Given the description of an element on the screen output the (x, y) to click on. 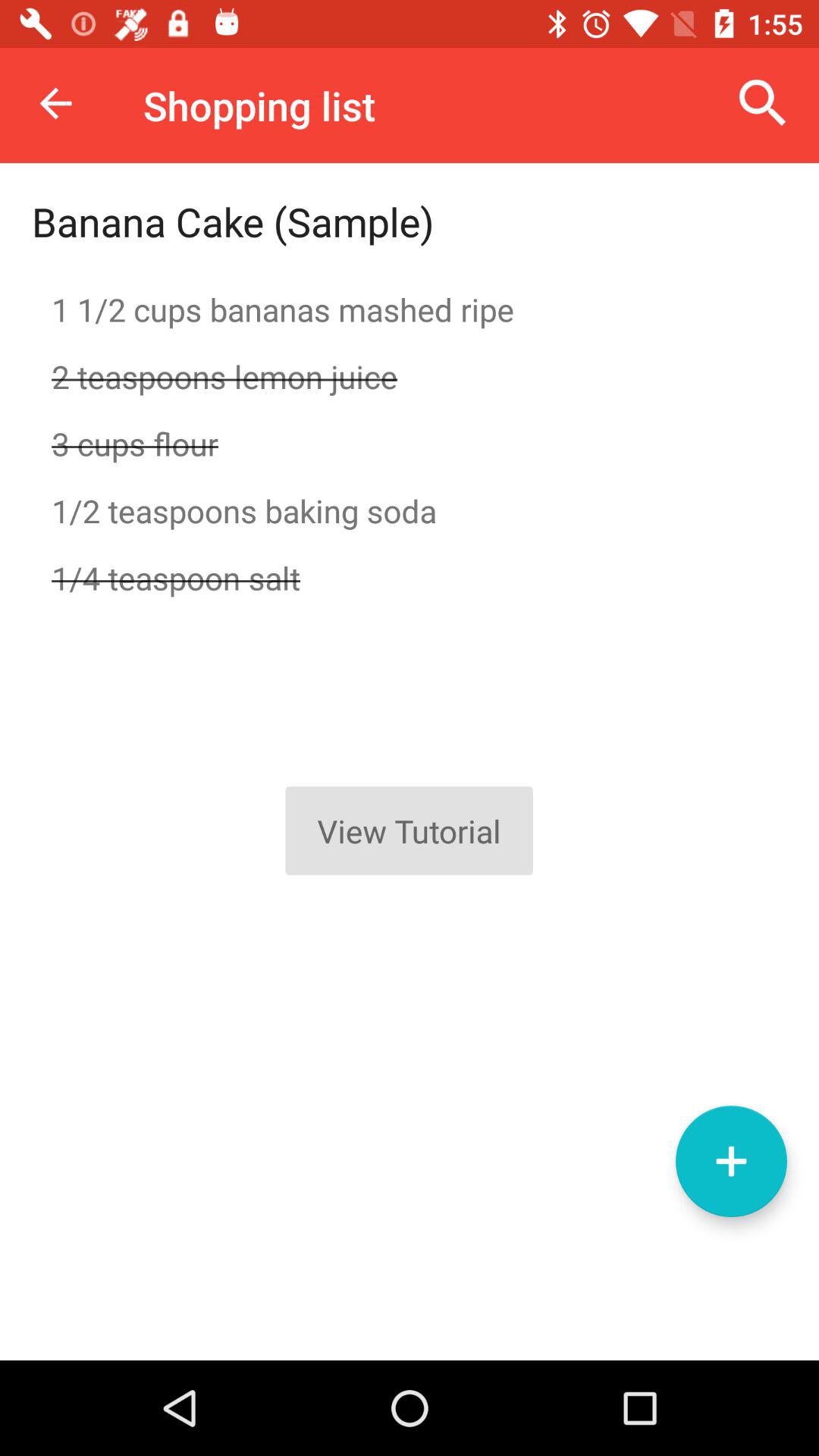
turn on icon above 1 1 2 item (232, 221)
